Given the description of an element on the screen output the (x, y) to click on. 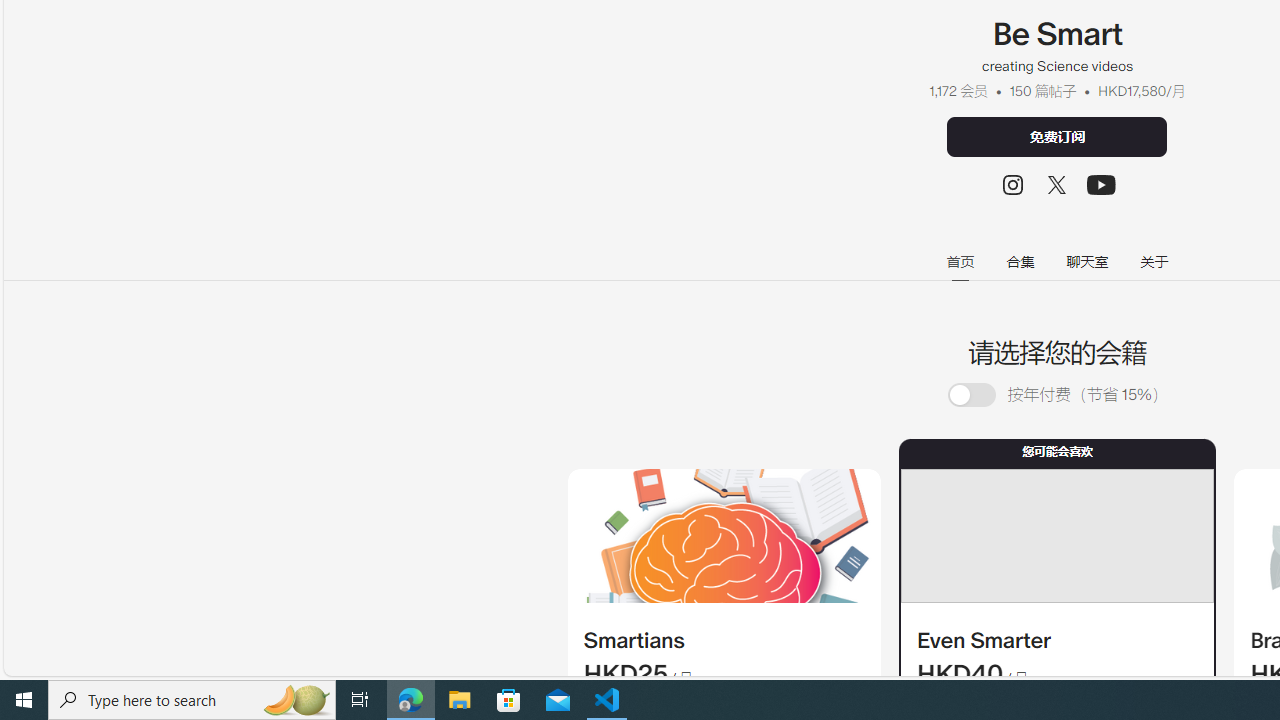
To get missing image descriptions, open the context menu. (723, 536)
Loading (971, 395)
Loading (983, 394)
Class: sc-jrQzAO HeRcC sc-1b5vbhn-1 hqVCmM (1101, 184)
